Given the description of an element on the screen output the (x, y) to click on. 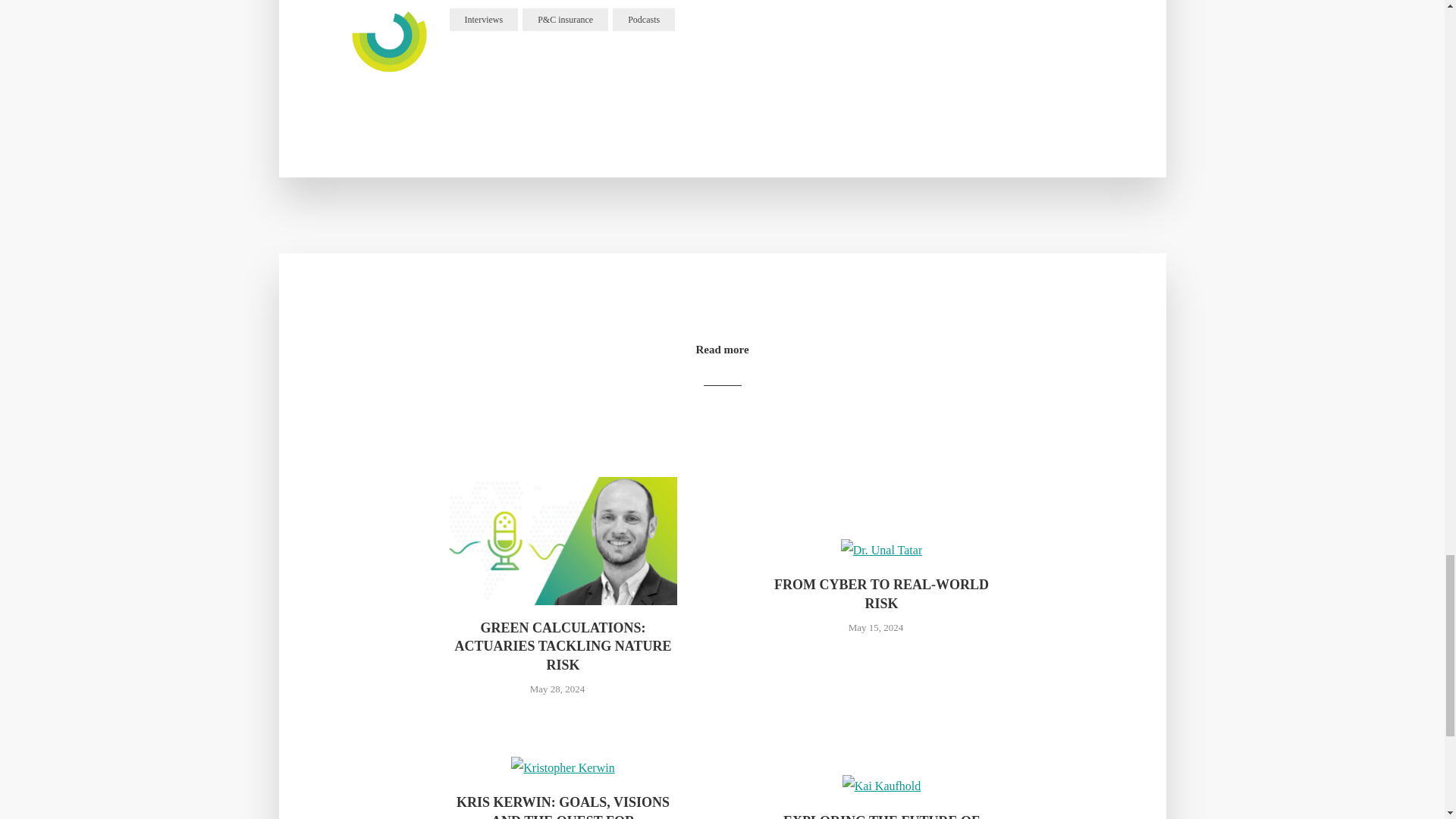
Interviews (483, 19)
GREEN CALCULATIONS: ACTUARIES TACKLING NATURE RISK (562, 646)
FROM CYBER TO REAL-WORLD RISK (880, 593)
EXPLORING THE FUTURE OF MORTALITY IMPROVEMENT (880, 815)
Podcasts (643, 19)
